Given the description of an element on the screen output the (x, y) to click on. 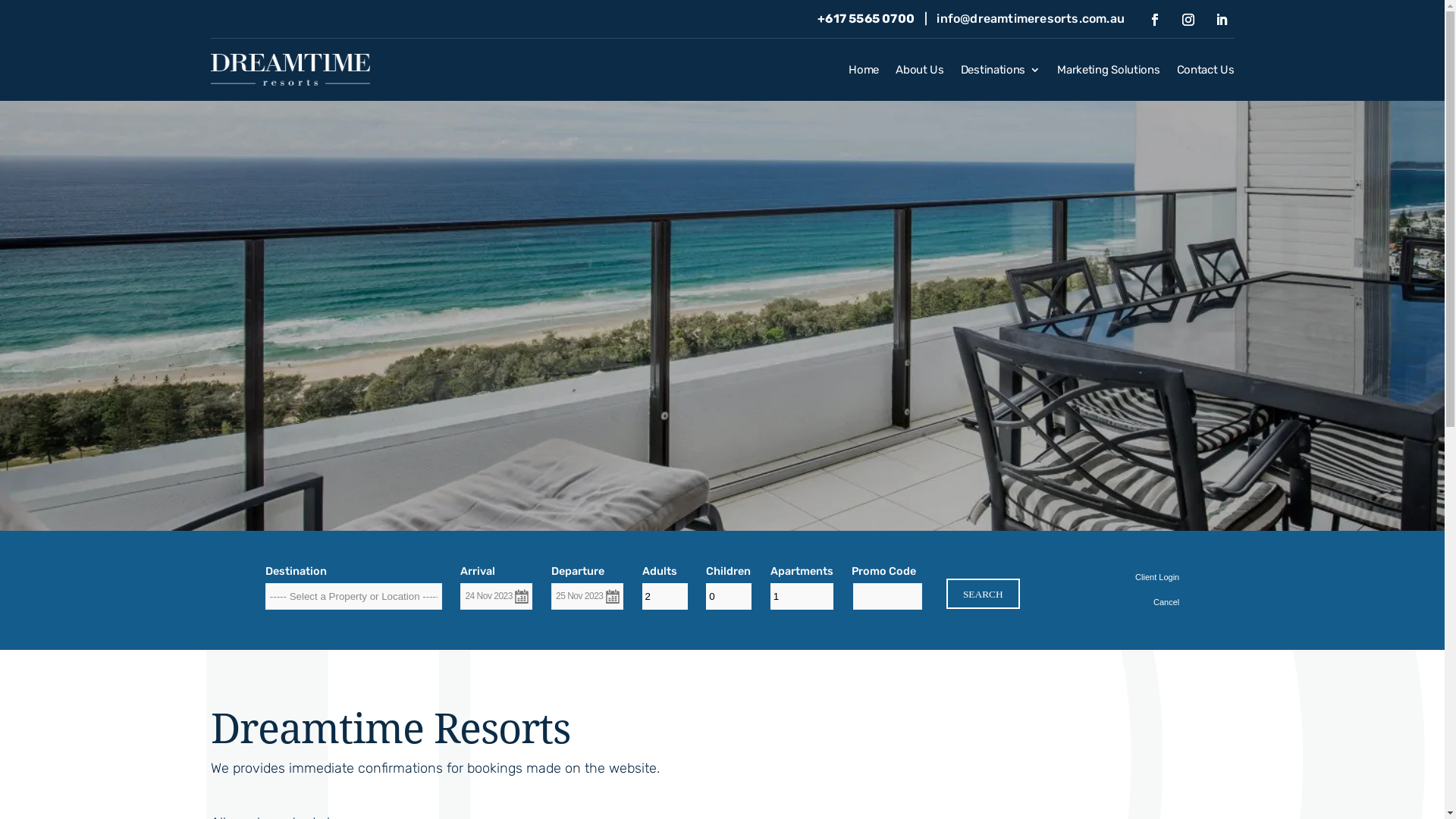
SEARCH Element type: text (982, 593)
Follow on LinkedIn Element type: hover (1221, 19)
Home Element type: text (863, 73)
Follow on Facebook Element type: hover (1154, 19)
DreamtimeResorts_Wh500w Element type: hover (290, 69)
About Us Element type: text (919, 73)
Cancel Element type: text (1166, 601)
Destinations Element type: text (1000, 73)
Contact Us Element type: text (1205, 73)
Follow on Instagram Element type: hover (1188, 19)
Marketing Solutions Element type: text (1108, 73)
Client Login Element type: text (1157, 576)
